Given the description of an element on the screen output the (x, y) to click on. 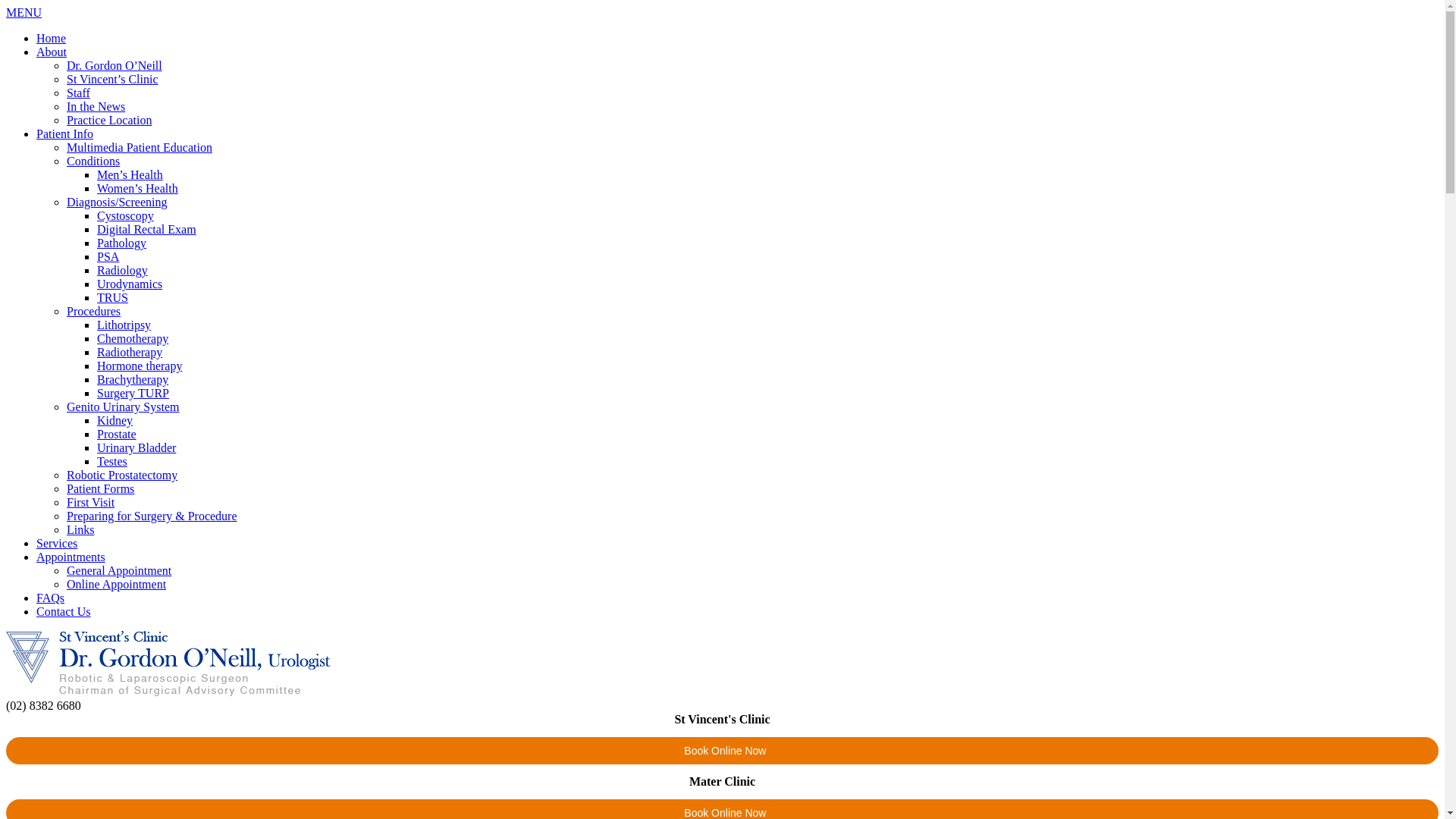
Radiology Element type: text (122, 269)
Genito Urinary System Element type: text (122, 406)
Brachytherapy Element type: text (132, 379)
Procedures Element type: text (93, 310)
PSA Element type: text (108, 256)
Robotic Prostatectomy Element type: text (121, 474)
Multimedia Patient Education Element type: text (139, 147)
FAQs Element type: text (50, 597)
Urinary Bladder Element type: text (136, 447)
Preparing for Surgery & Procedure Element type: text (151, 515)
Practice Location Element type: text (108, 119)
Radiotherapy Element type: text (129, 351)
Staff Element type: text (78, 92)
Appointments Element type: text (70, 556)
General Appointment Element type: text (118, 570)
Urodynamics Element type: text (129, 283)
Conditions Element type: text (92, 160)
Contact Us Element type: text (63, 611)
Cystoscopy Element type: text (125, 215)
Testes Element type: text (112, 461)
In the News Element type: text (95, 106)
About Element type: text (51, 51)
Services Element type: text (56, 542)
Patient Forms Element type: text (100, 488)
First Visit Element type: text (90, 501)
Digital Rectal Exam Element type: text (146, 228)
Kidney Element type: text (114, 420)
Home Element type: text (50, 37)
Patient Info Element type: text (64, 133)
MENU Element type: text (23, 12)
Links Element type: text (80, 529)
Hormone therapy Element type: text (139, 365)
Chemotherapy Element type: text (132, 338)
Prostate Element type: text (116, 433)
TRUS Element type: text (112, 297)
Surgery TURP Element type: text (133, 392)
Pathology Element type: text (121, 242)
Diagnosis/Screening Element type: text (116, 201)
Lithotripsy Element type: text (123, 324)
Online Appointment Element type: text (116, 583)
